Given the description of an element on the screen output the (x, y) to click on. 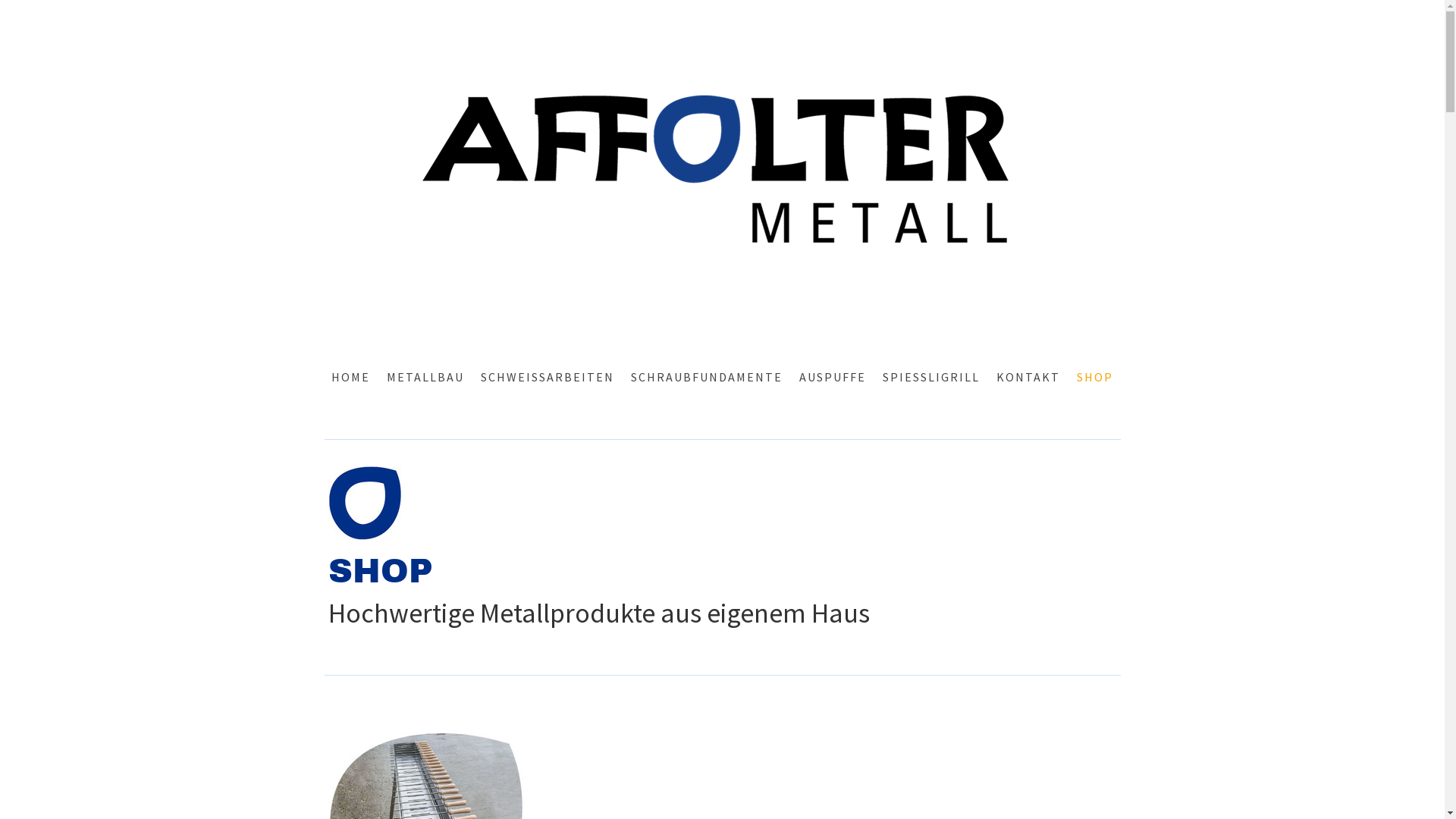
METALLBAU Element type: text (425, 376)
HOME Element type: text (350, 376)
SCHRAUBFUNDAMENTE Element type: text (706, 376)
SHOP Element type: text (1094, 376)
KONTAKT Element type: text (1028, 376)
SPIESSLIGRILL Element type: text (931, 376)
SCHWEISSARBEITEN Element type: text (547, 376)
AUSPUFFE Element type: text (832, 376)
